Given the description of an element on the screen output the (x, y) to click on. 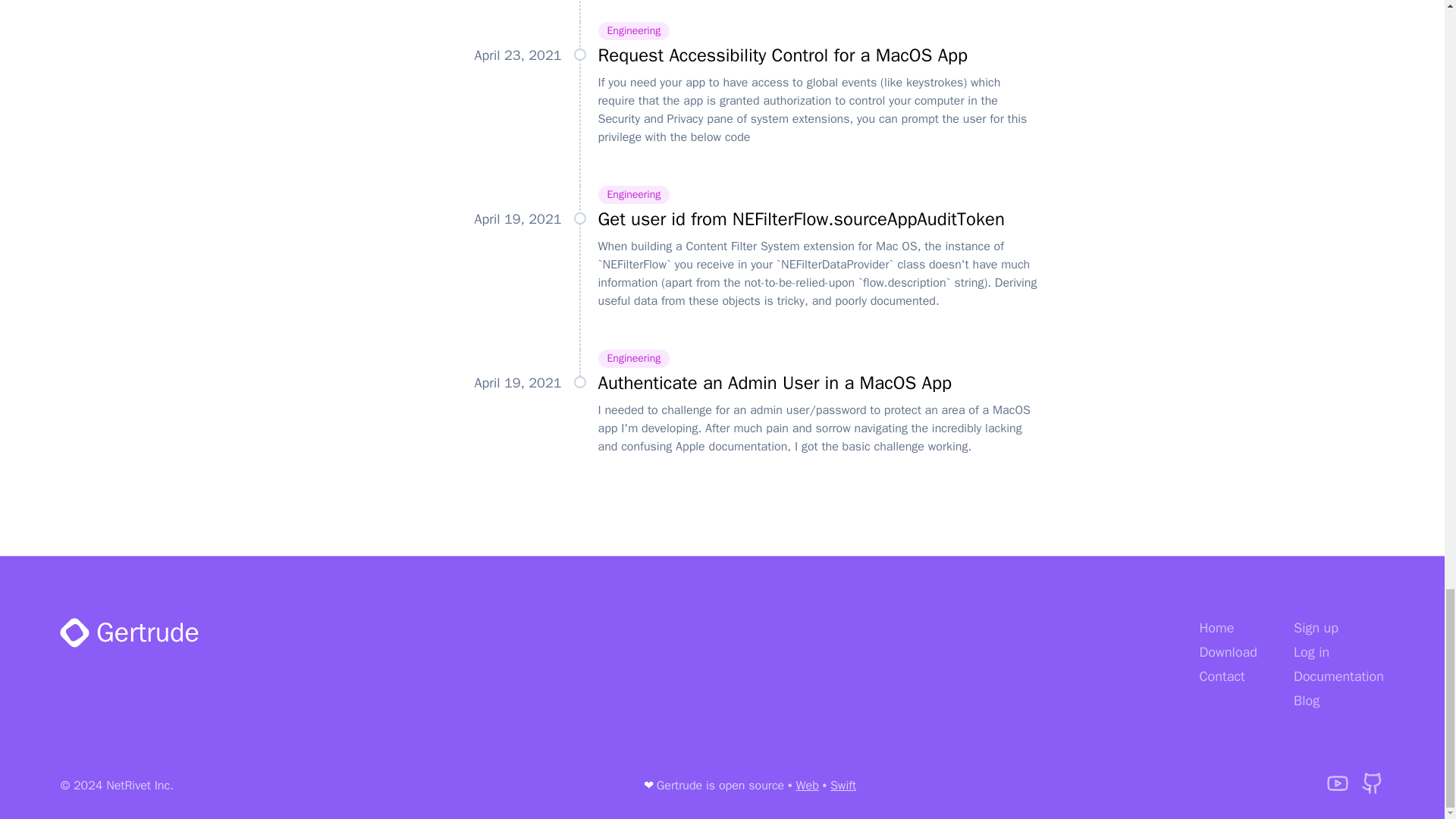
Documentation (1339, 676)
Home (1215, 627)
Swift (842, 785)
Contact (1221, 676)
Download (1227, 651)
Log in (1311, 651)
Blog (1306, 700)
Sign up (1316, 627)
Web (806, 785)
Gertrude (130, 632)
